Given the description of an element on the screen output the (x, y) to click on. 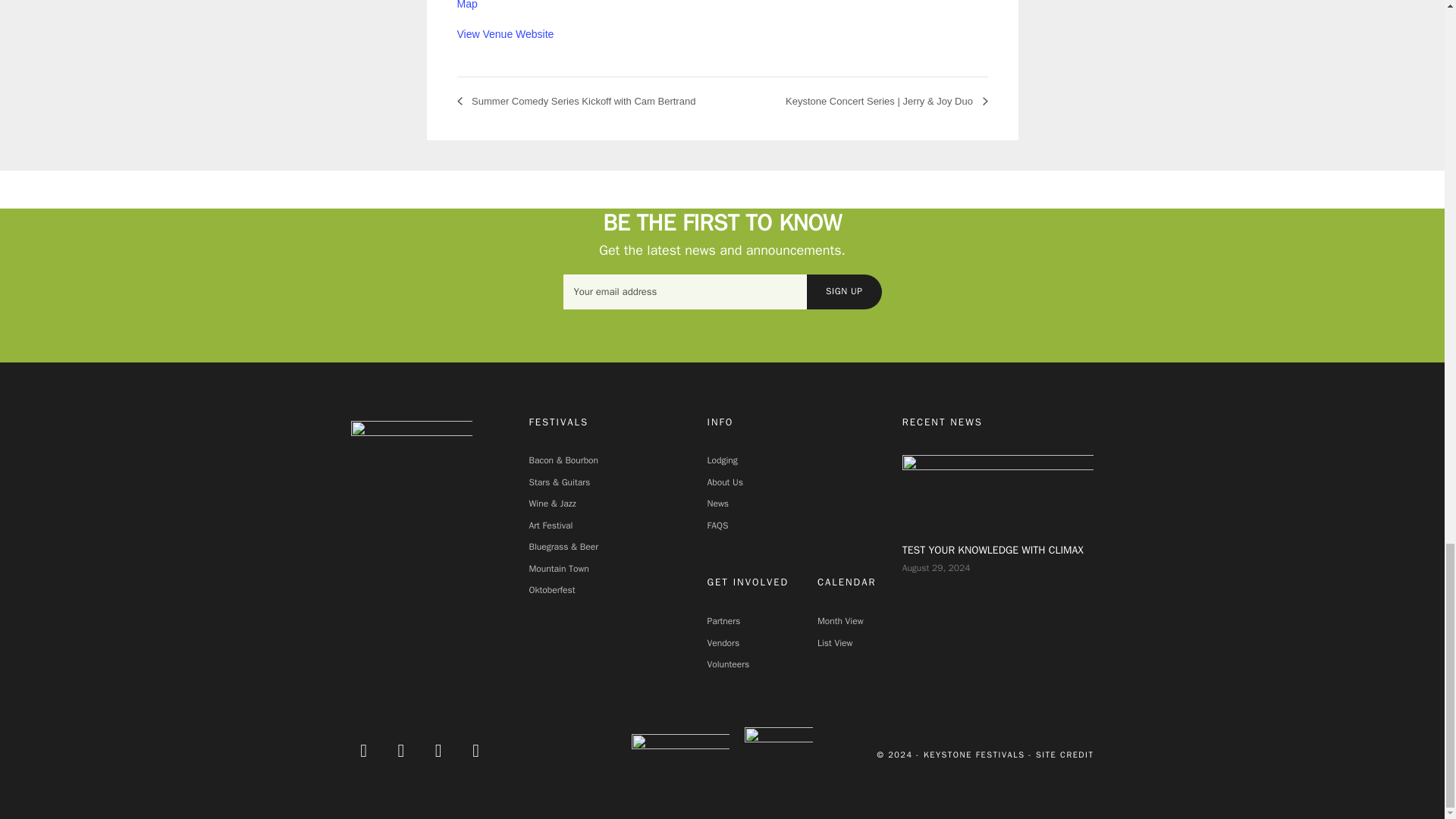
Twitter (400, 750)
Facebook (363, 750)
TEST YOUR KNOWLEDGE WITH CLIMAX (998, 490)
Instagram (438, 750)
Youtube (475, 750)
Click to view a Google Map (511, 4)
